Given the description of an element on the screen output the (x, y) to click on. 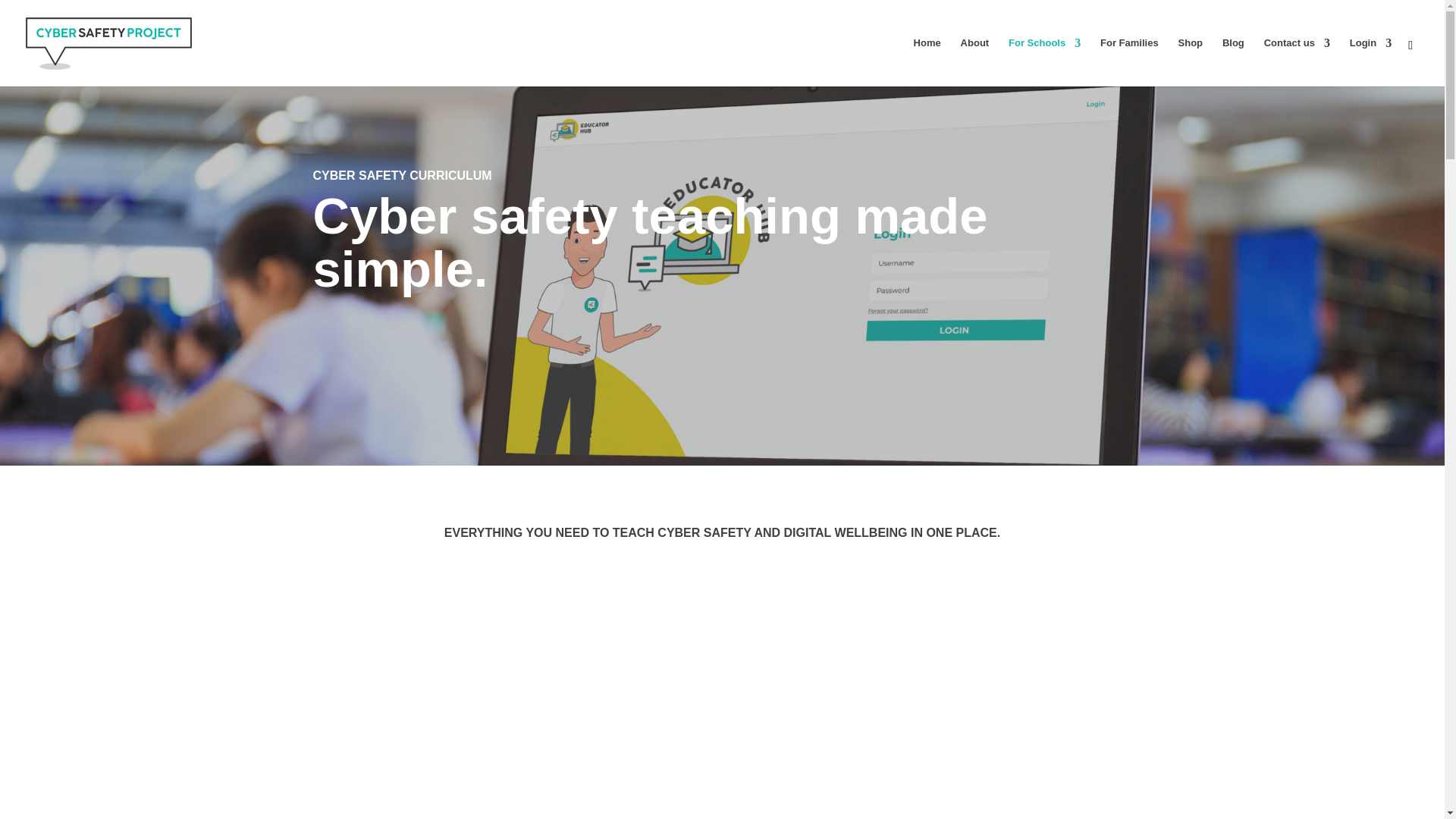
For Families (1129, 61)
For Schools (1044, 61)
Contact us (1296, 61)
